Given the description of an element on the screen output the (x, y) to click on. 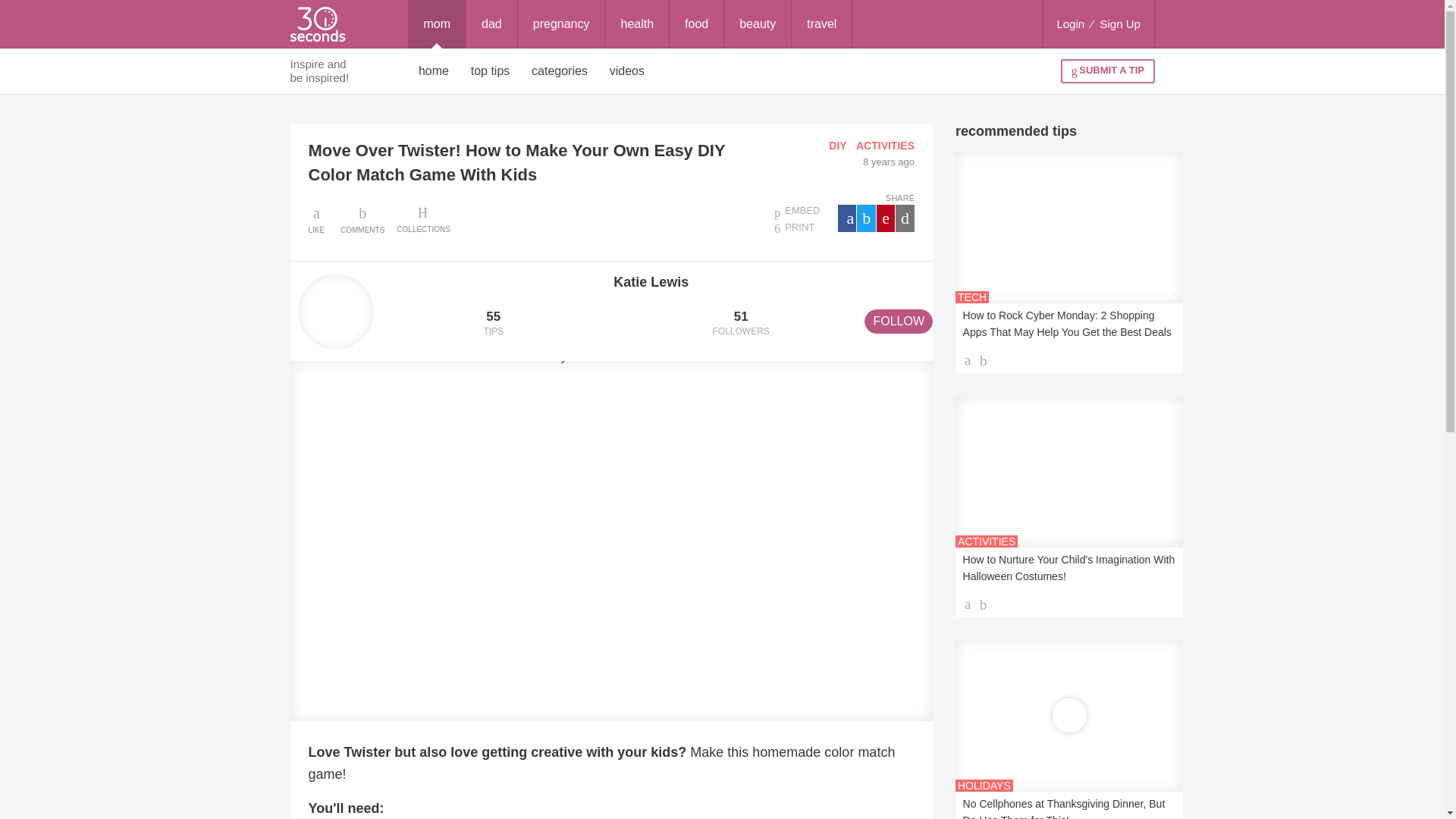
Sign Up (1120, 23)
dad (490, 24)
top tips (489, 71)
travel (821, 24)
food (696, 24)
mom (436, 24)
categories (559, 71)
health (636, 24)
Login (1069, 23)
pregnancy (561, 24)
COMMENTS (362, 218)
home (433, 71)
beauty (756, 24)
